Given the description of an element on the screen output the (x, y) to click on. 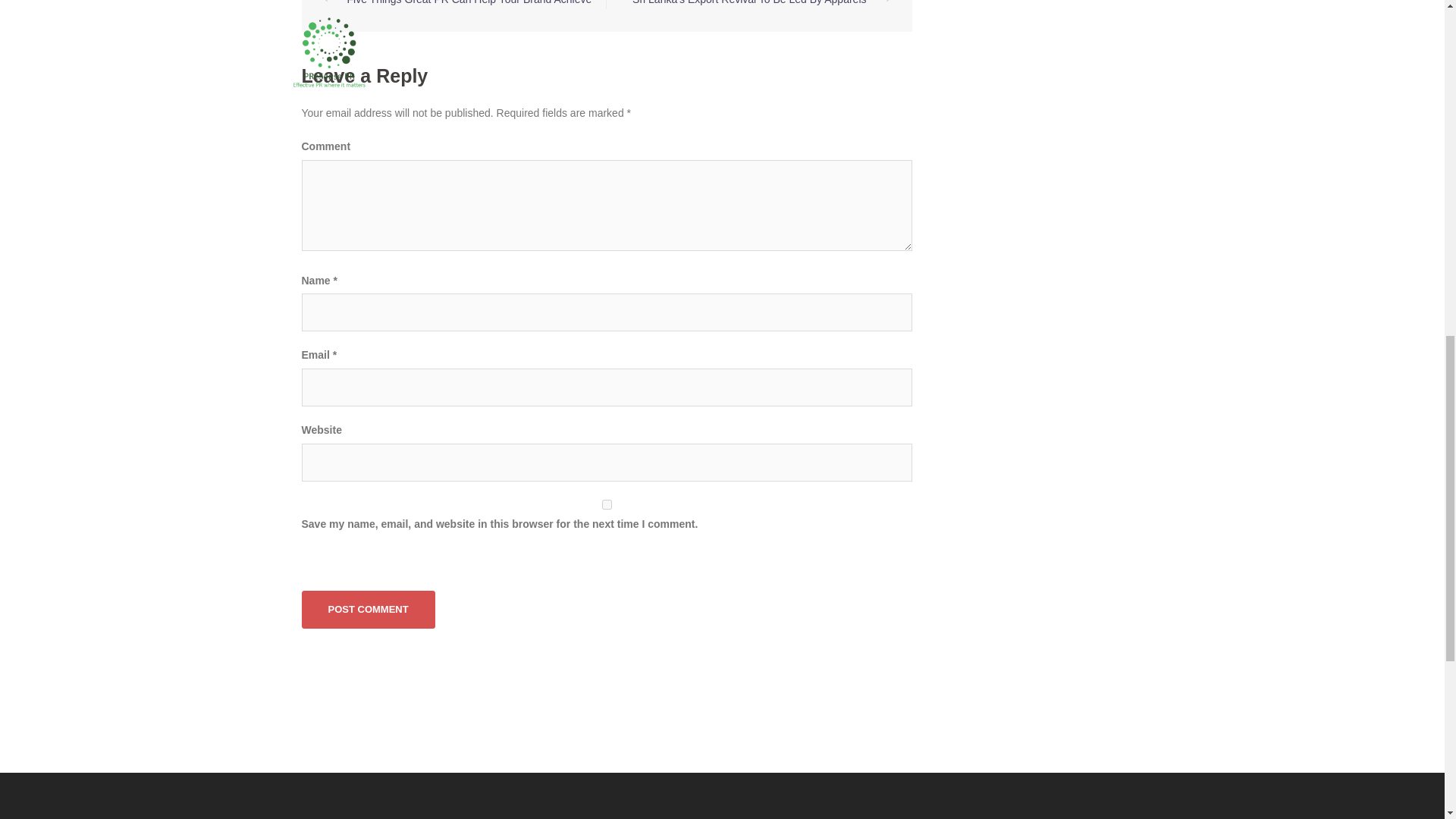
Five Things Great PR Can Help Your Brand Achieve (469, 2)
yes (606, 504)
Post Comment (368, 609)
Post Comment (368, 609)
